Given the description of an element on the screen output the (x, y) to click on. 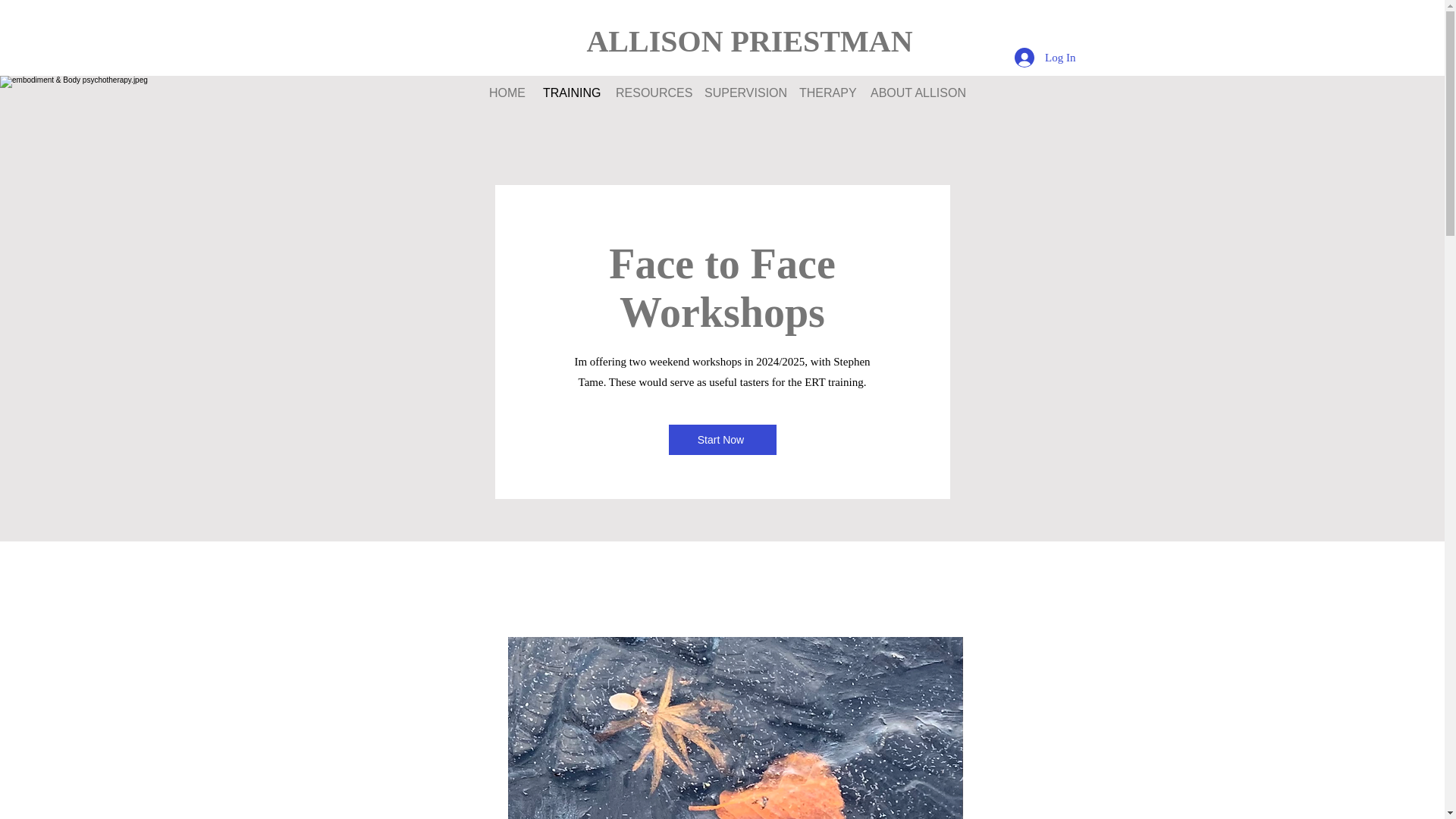
ALLISON PRIESTMAN (749, 41)
Log In (1045, 57)
SUPERVISION (740, 92)
Start Now (722, 440)
TRAINING (567, 92)
RESOURCES (648, 92)
THERAPY (823, 92)
ABOUT ALLISON (912, 92)
HOME (504, 92)
